Given the description of an element on the screen output the (x, y) to click on. 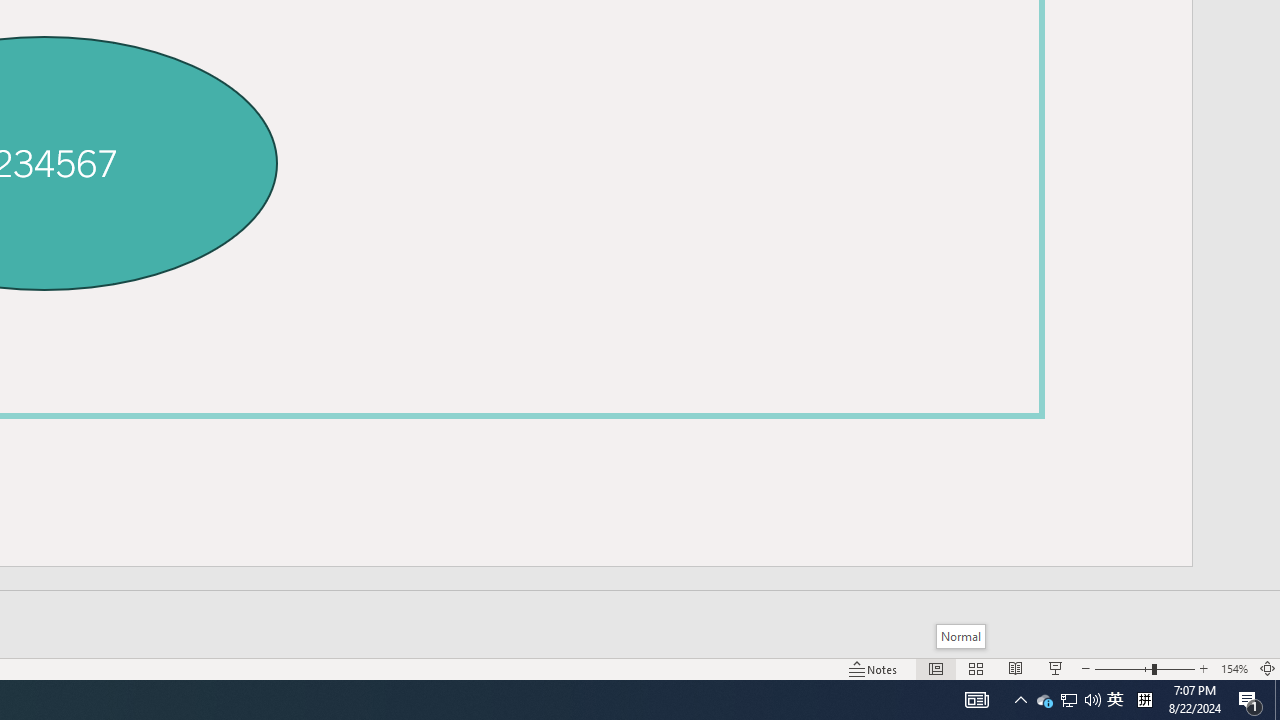
Zoom 154% (1234, 668)
